Given the description of an element on the screen output the (x, y) to click on. 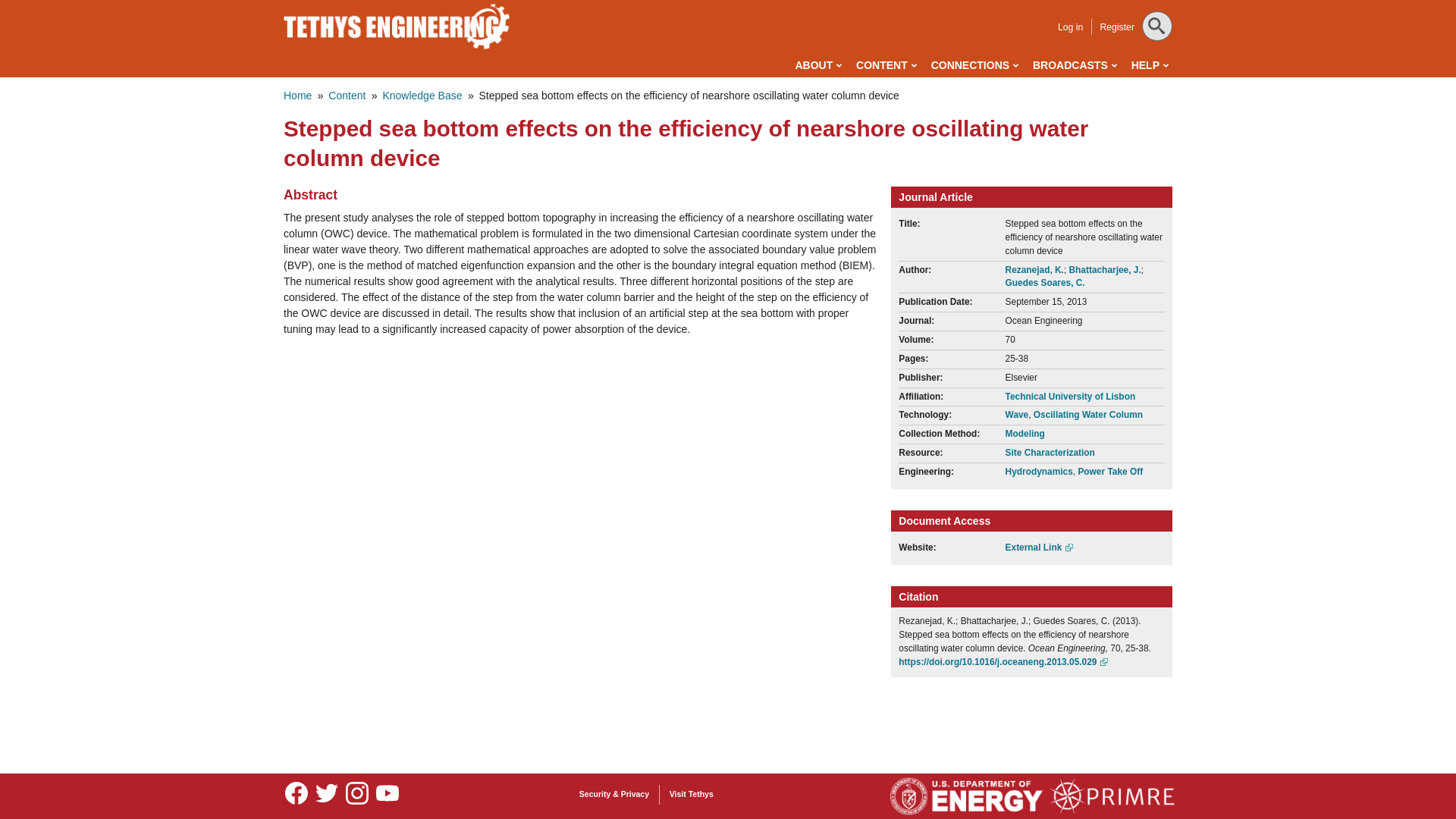
Log in (1070, 27)
Site Characterization (1050, 452)
External Link (1040, 547)
Knowledge Base (421, 95)
Content (347, 95)
Power Take Off (1109, 471)
Oscillating Water Column (1087, 414)
Technical University of Lisbon (1070, 396)
Register (1116, 27)
Hydrodynamics (1039, 471)
CONTENT (886, 65)
Modeling (1025, 433)
Rezanejad, K. (1035, 269)
Wave (1017, 414)
